Given the description of an element on the screen output the (x, y) to click on. 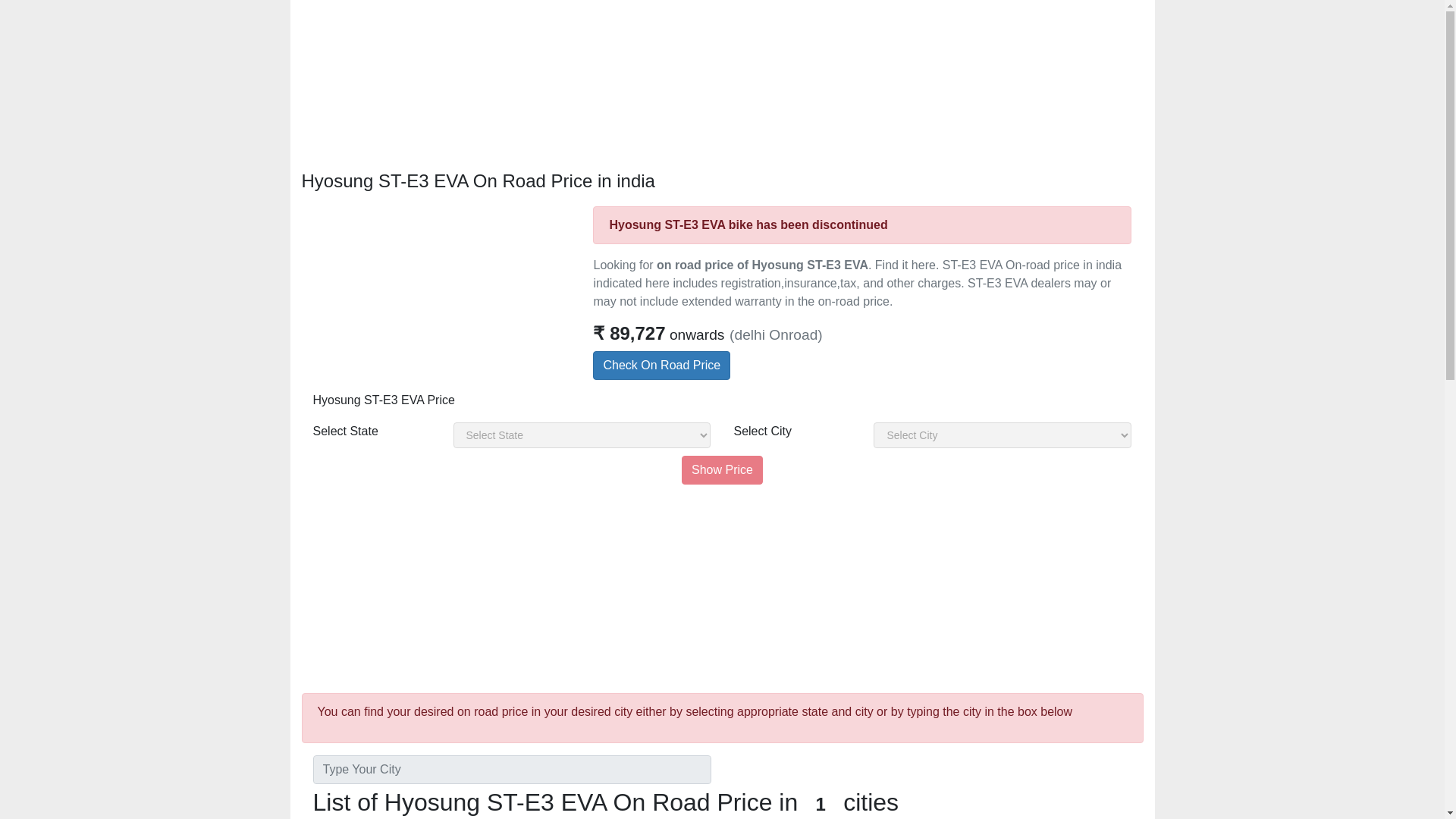
Show Price (721, 469)
Advertisement (721, 585)
Check On Road Price (661, 365)
